Given the description of an element on the screen output the (x, y) to click on. 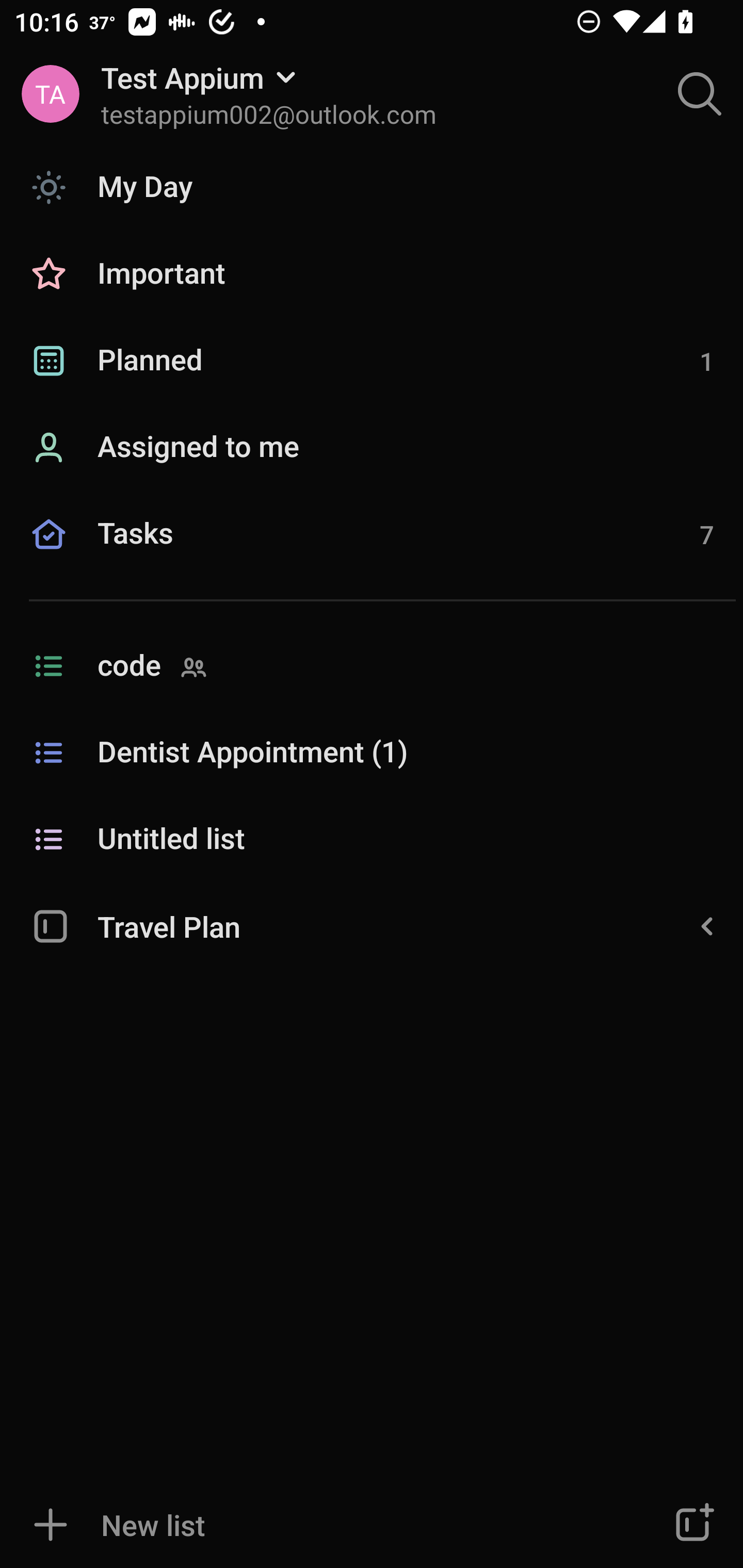
Enter search (699, 93)
My Day, 0 tasks My Day (371, 187)
Important, 0 tasks Important (371, 274)
Planned, 1 tasks Planned 1 (371, 361)
Assigned to me, 0 tasks Assigned to me (371, 447)
Tasks, 7 tasks Tasks 7 (371, 556)
Shared list. code code Shared list (371, 666)
Dentist Appointment (1) (371, 753)
Untitled list (371, 839)
Group Travel Plan, contains 0 lists Travel Plan (371, 925)
New list (312, 1524)
Create group (692, 1524)
